Given the description of an element on the screen output the (x, y) to click on. 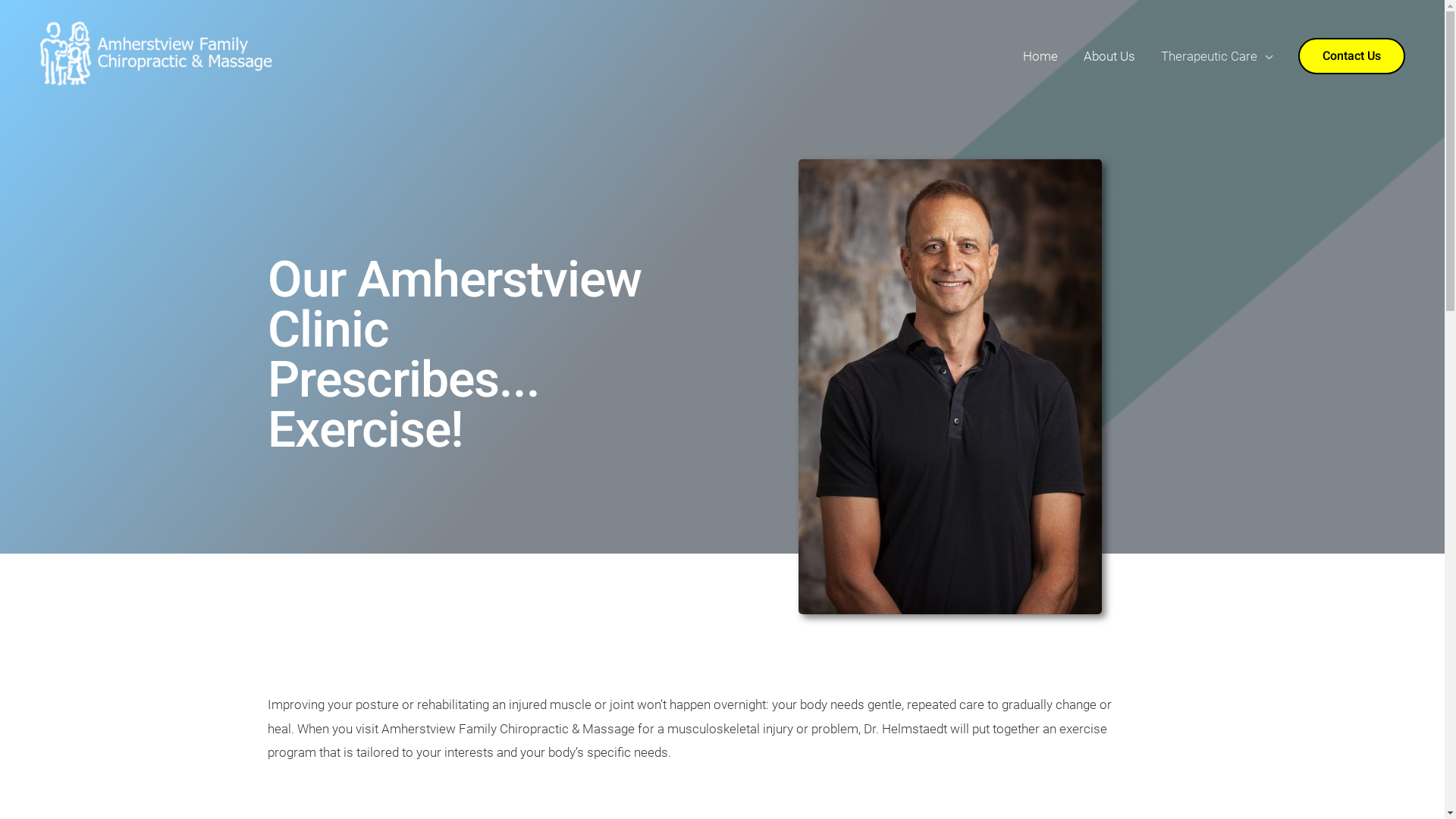
Contact Us Element type: text (1351, 55)
Therapeutic Care Element type: text (1216, 55)
Home Element type: text (1040, 55)
2018-09-12_Focus-06 Element type: hover (949, 386)
About Us Element type: text (1109, 55)
